Given the description of an element on the screen output the (x, y) to click on. 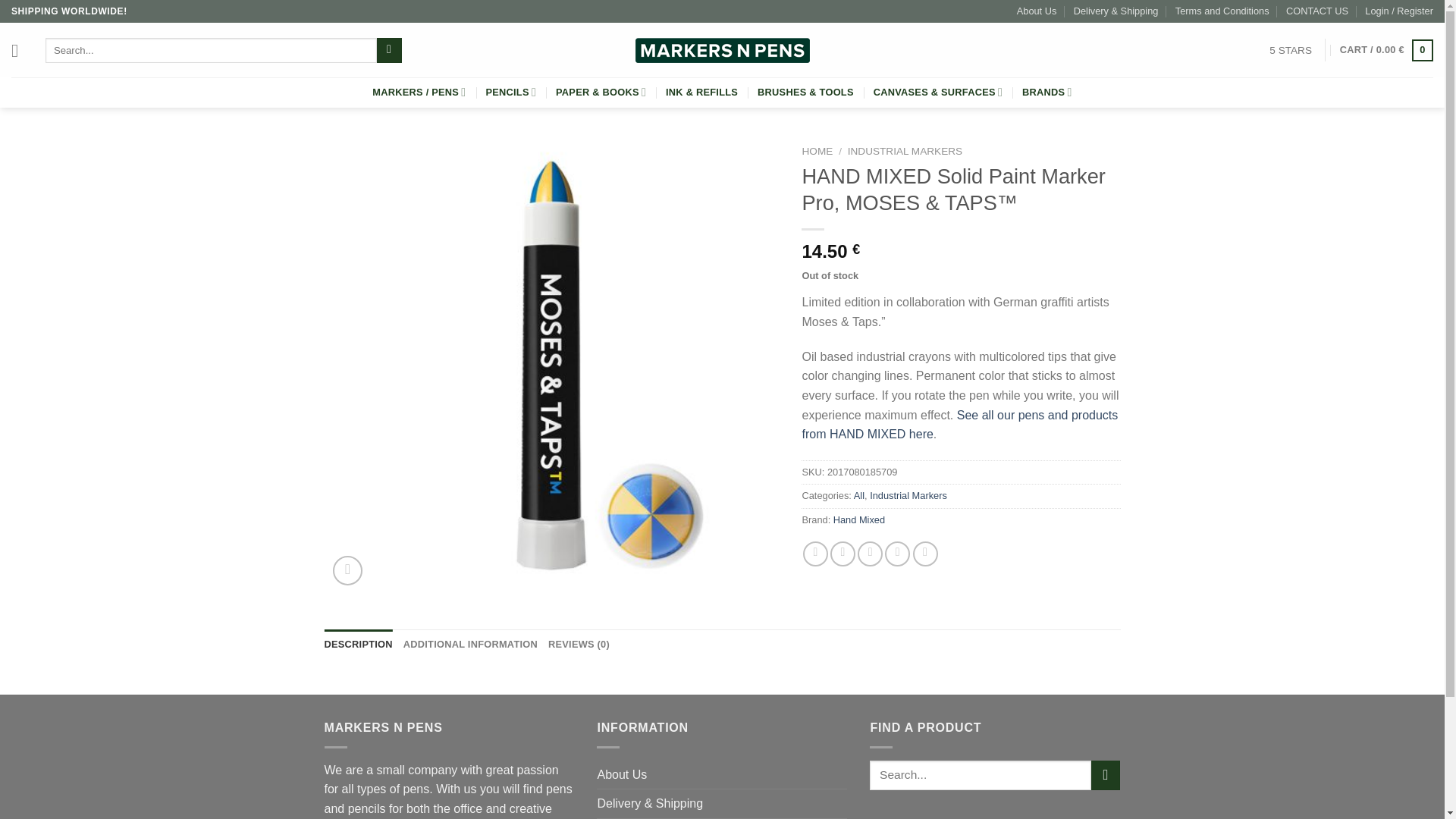
Share on Facebook (815, 553)
Email to a Friend (869, 553)
Share on Twitter (842, 553)
Share on LinkedIn (924, 553)
Search (389, 50)
Terms and Conditions (1221, 11)
About Us (1036, 11)
PENCILS (509, 91)
Zoom (347, 570)
Markersnpens.com - We love markers n pens! (721, 50)
Pin on Pinterest (897, 553)
CONTACT US (1316, 11)
Cart (1385, 50)
